Given the description of an element on the screen output the (x, y) to click on. 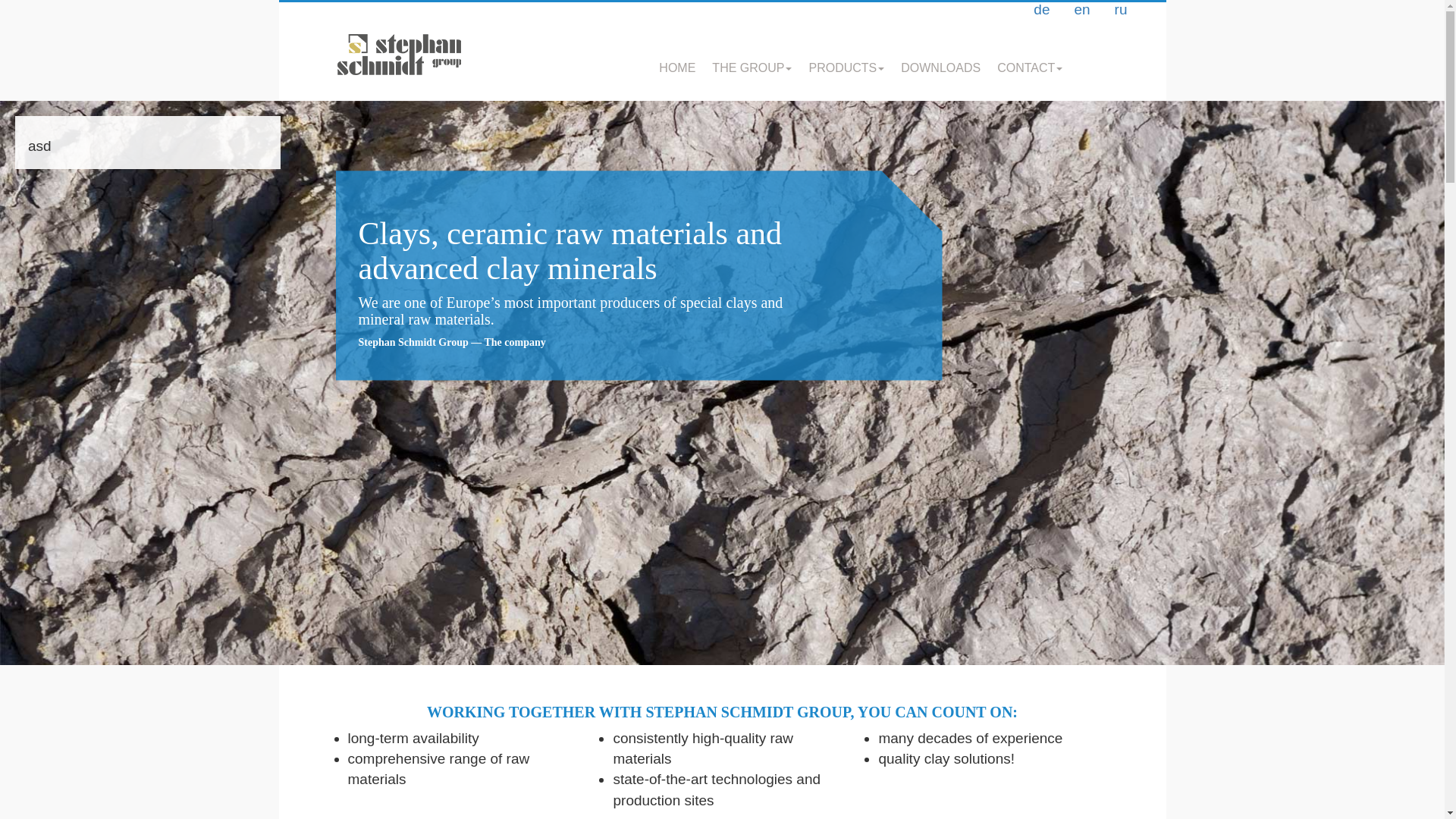
PRODUCTS (845, 67)
CONTACT (1029, 67)
HOME (677, 67)
THE GROUP (751, 67)
DOWNLOADS (940, 67)
